Given the description of an element on the screen output the (x, y) to click on. 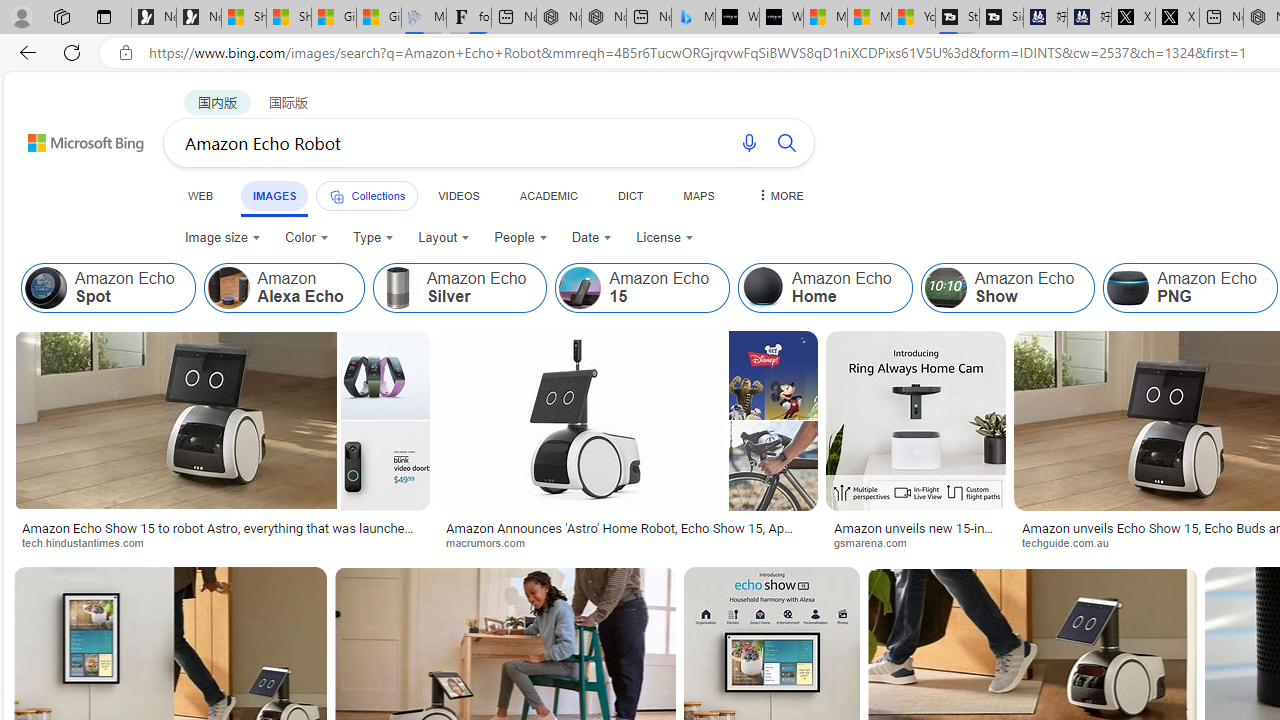
VIDEOS (458, 195)
Amazon Alexa Echo (228, 287)
DICT (630, 195)
MAPS (698, 195)
People (520, 237)
Search button (786, 142)
Shanghai, China weather forecast | Microsoft Weather (289, 17)
ACADEMIC (548, 195)
Streaming Coverage | T3 (957, 17)
MORE (779, 195)
Newsletter Sign Up (198, 17)
macrumors.com (627, 542)
Amazon Echo 15 (580, 287)
